Given the description of an element on the screen output the (x, y) to click on. 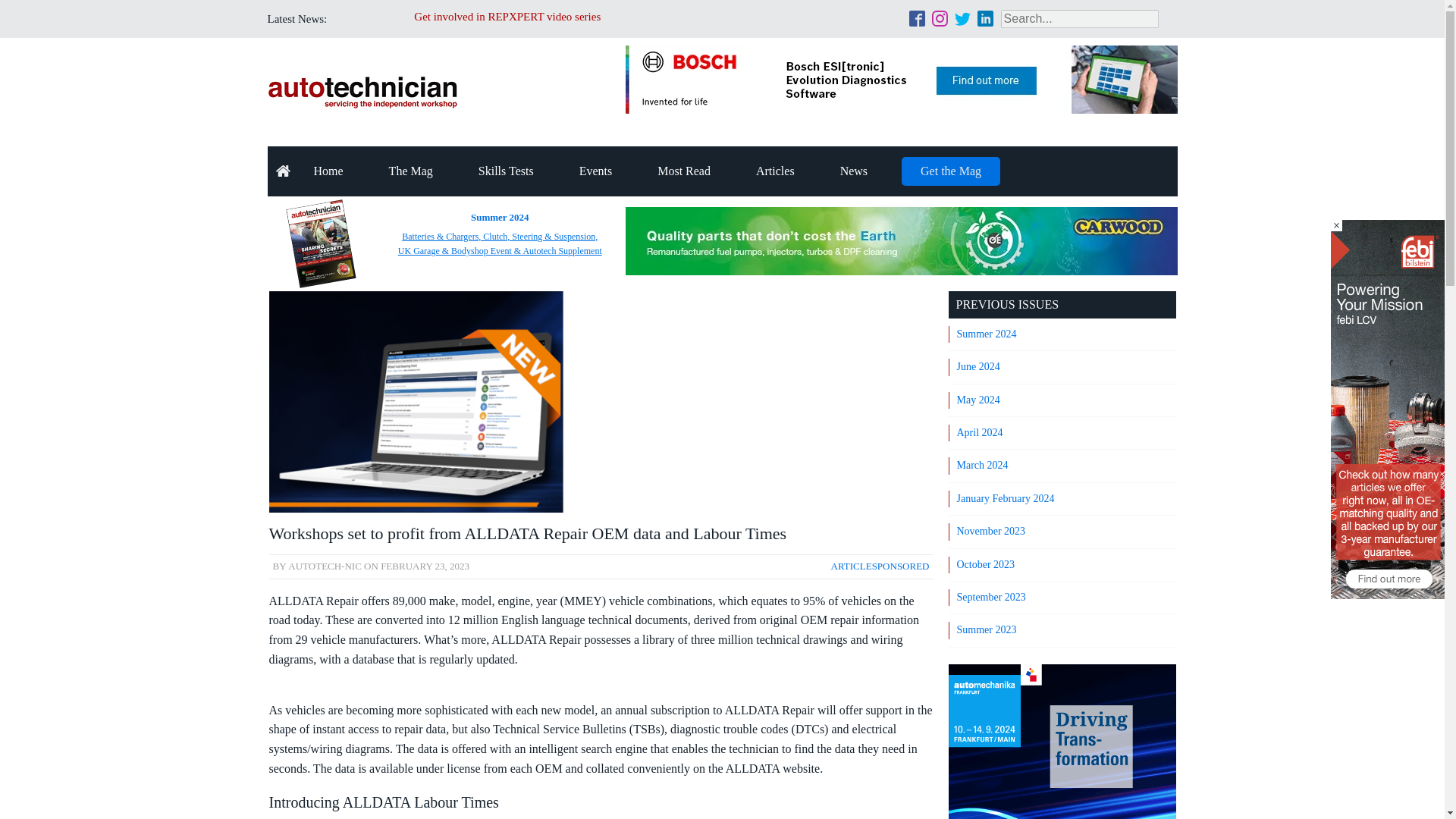
Go (13, 9)
Skills Tests (505, 171)
Home (328, 171)
Most Read (683, 171)
Events (595, 171)
News (852, 171)
close (1336, 225)
ARTICLE (851, 565)
Get the Mag (950, 171)
Articles (774, 171)
The Mag (410, 171)
SPONSORED (901, 565)
